Given the description of an element on the screen output the (x, y) to click on. 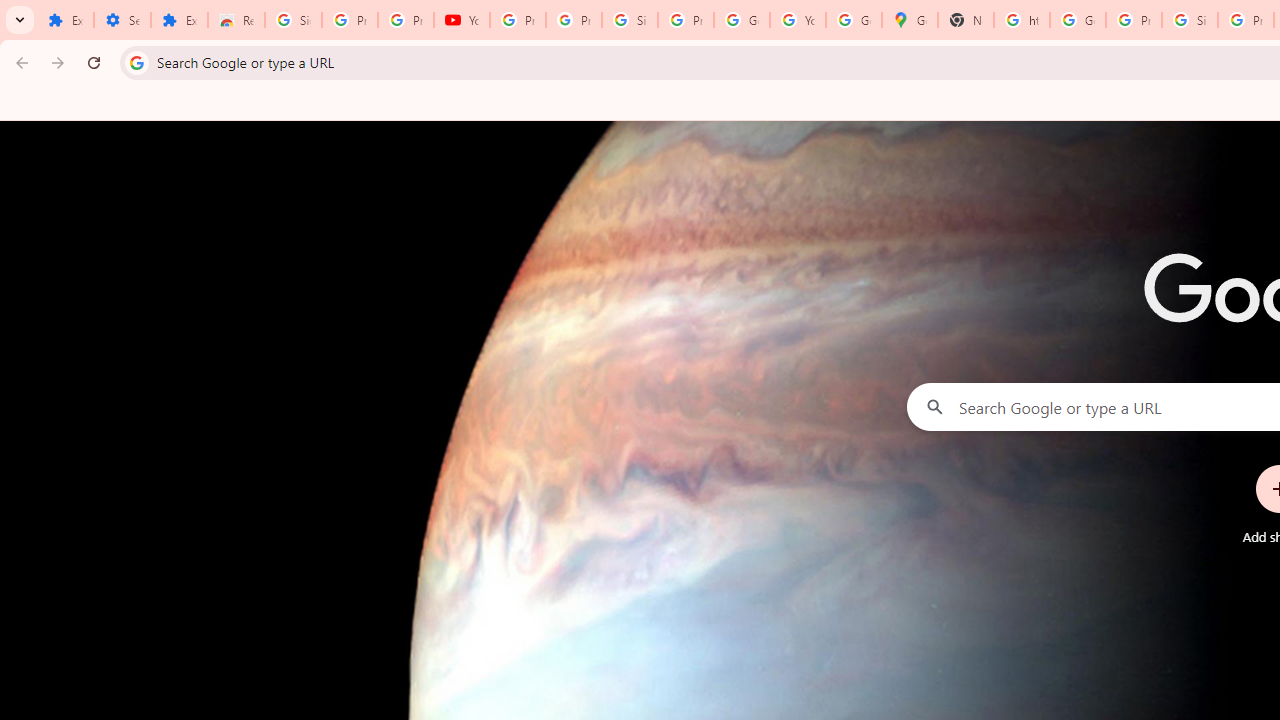
Sign in - Google Accounts (629, 20)
https://scholar.google.com/ (1021, 20)
YouTube (461, 20)
